Given the description of an element on the screen output the (x, y) to click on. 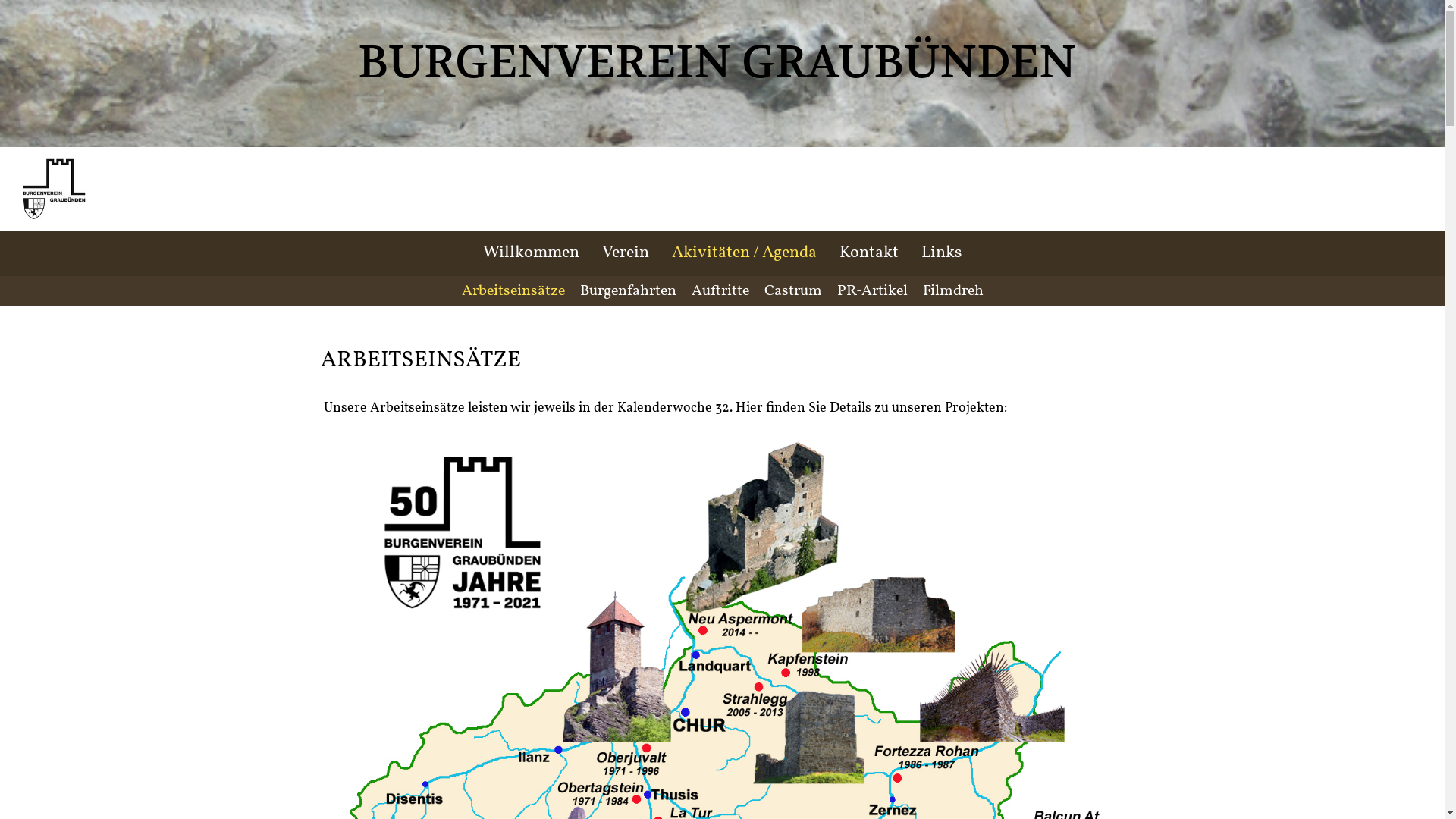
Willkommen Element type: text (530, 253)
Burgenfahrten Element type: text (627, 291)
Filmdreh Element type: text (952, 291)
Verein Element type: text (625, 253)
Links Element type: text (941, 253)
PR-Artikel Element type: text (872, 291)
Castrum Element type: text (792, 291)
Kontakt Element type: text (869, 253)
Auftritte Element type: text (720, 291)
